Given the description of an element on the screen output the (x, y) to click on. 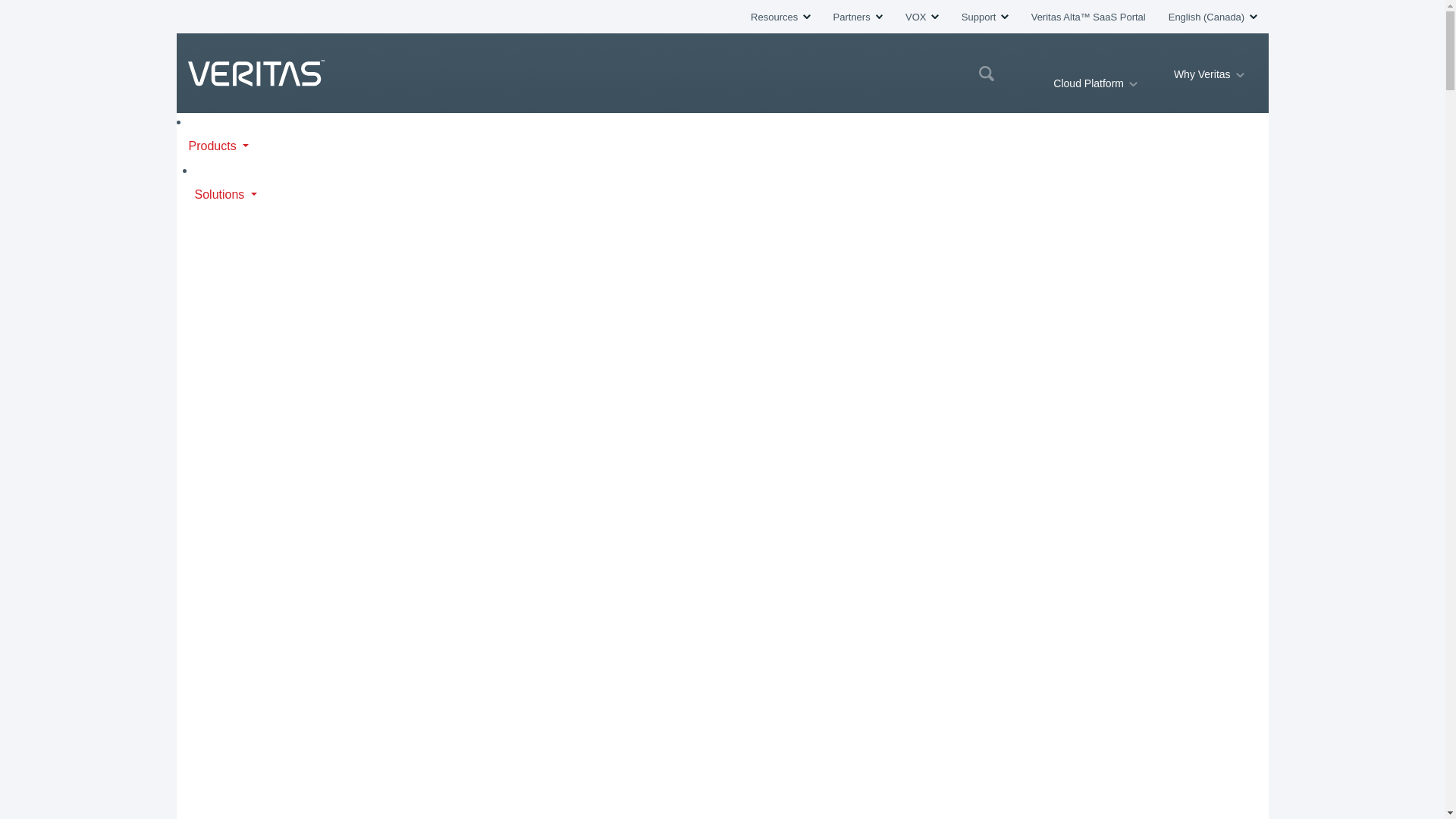
Resources (780, 16)
VOX (922, 16)
Support (984, 16)
Partners (857, 16)
